Given the description of an element on the screen output the (x, y) to click on. 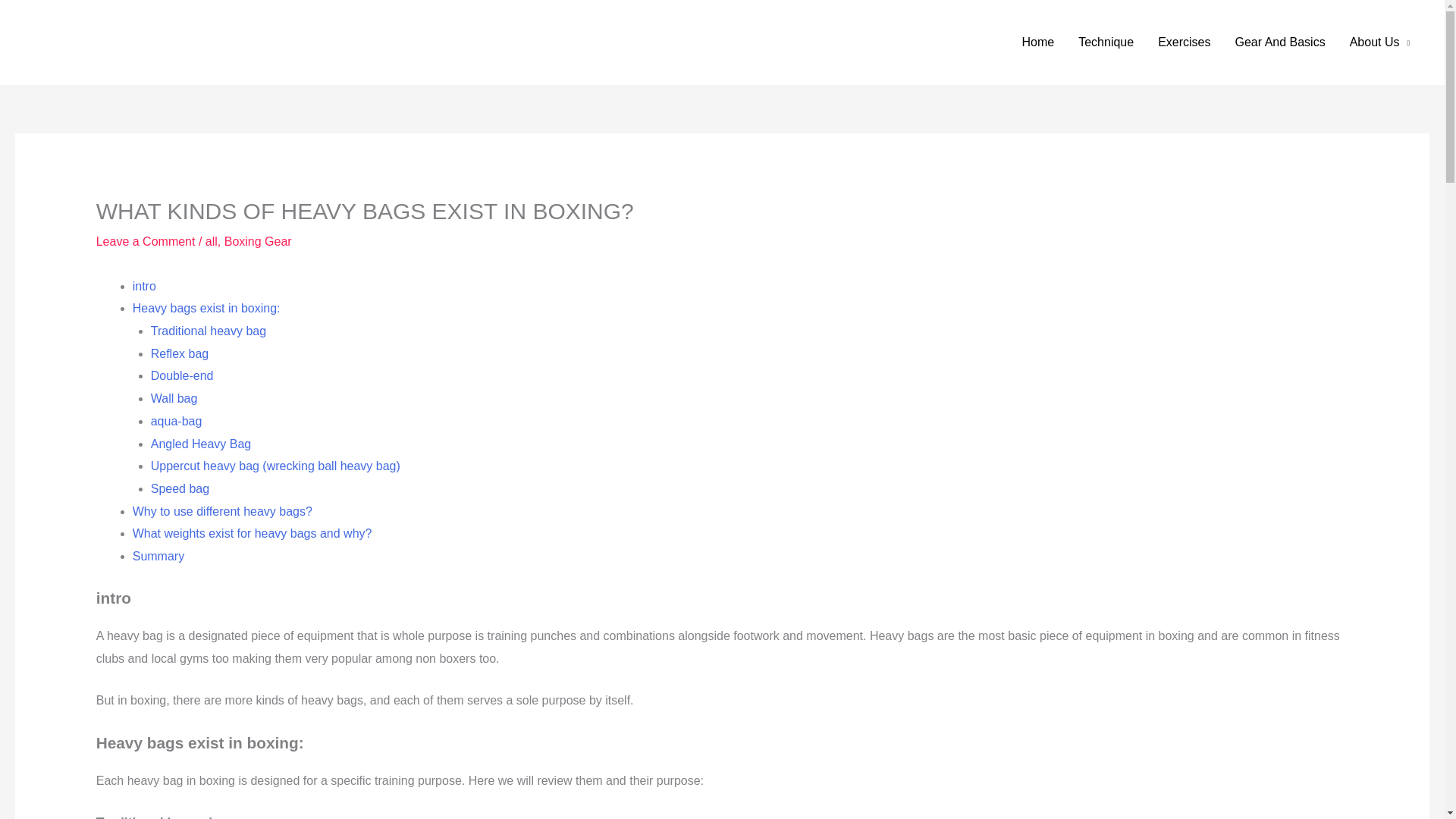
aqua-bag (176, 420)
About Us (1380, 41)
Heavy bags exist in boxing: (206, 308)
Leave a Comment (145, 241)
all (210, 241)
Double-end (182, 375)
Boxing Gear (258, 241)
Summary (158, 555)
Gear And Basics (1279, 41)
Technique (1105, 41)
Traditional heavy bag (208, 330)
Angled Heavy Bag (201, 443)
intro (143, 286)
Speed bag (180, 488)
Why to use different heavy bags? (222, 511)
